Given the description of an element on the screen output the (x, y) to click on. 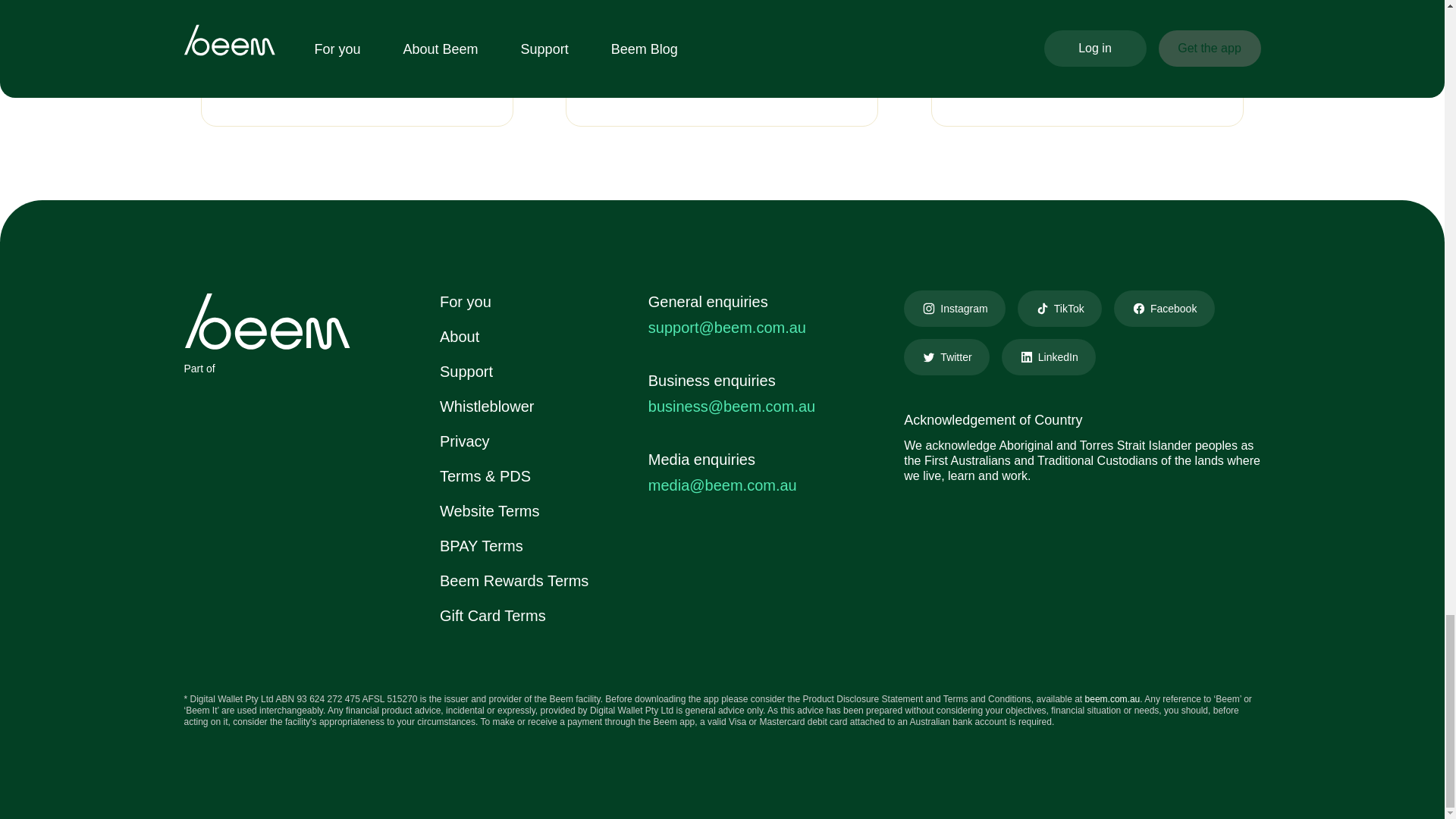
Facebook (1163, 308)
TikTok (1059, 308)
Privacy (464, 441)
For you (465, 301)
Support (466, 371)
Instagram (954, 308)
BPAY Terms (480, 545)
Beem Rewards Terms (513, 580)
About (459, 336)
Whistleblower (486, 406)
Website Terms (489, 510)
Gift Card Terms (492, 615)
